Given the description of an element on the screen output the (x, y) to click on. 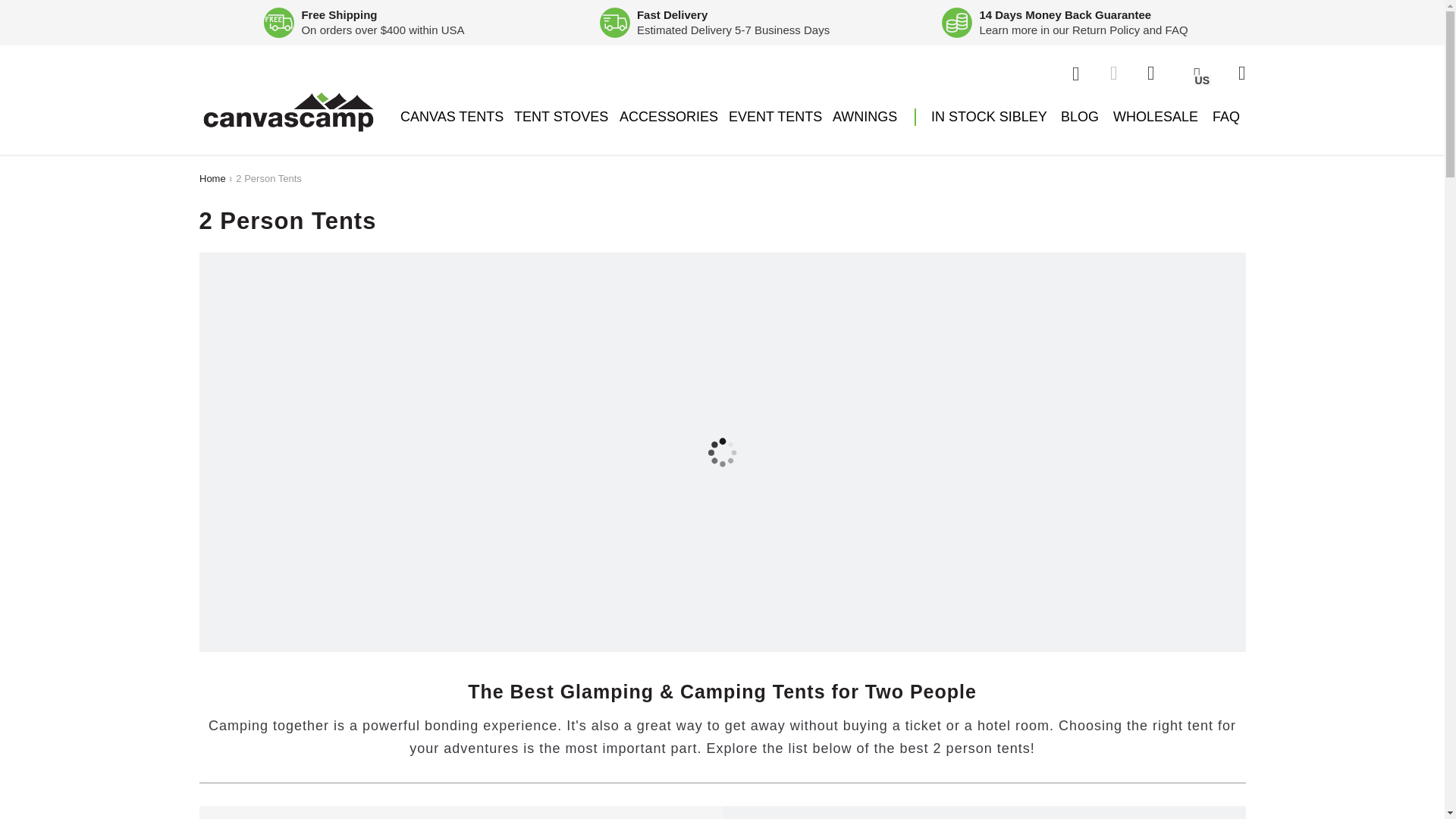
In Stock Sibley (983, 117)
Wholesale (1156, 117)
CanvasCamp (286, 111)
BLOG (1079, 117)
FAQ (1177, 29)
CANVAS TENTS (451, 117)
Go to Home Page (211, 178)
Return Policy (1105, 29)
